Given the description of an element on the screen output the (x, y) to click on. 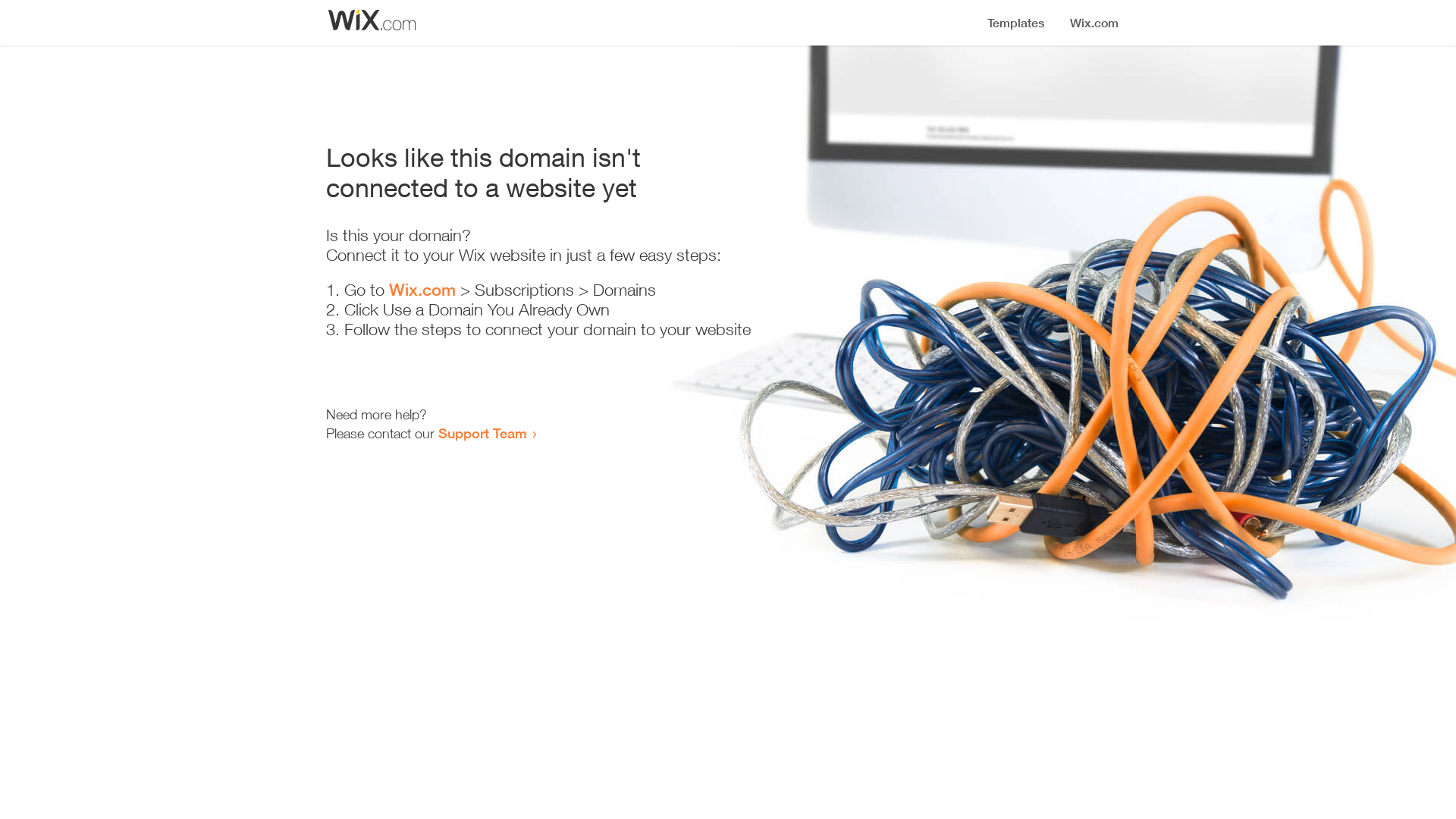
Wix.com Element type: text (422, 289)
Support Team Element type: text (482, 432)
